Given the description of an element on the screen output the (x, y) to click on. 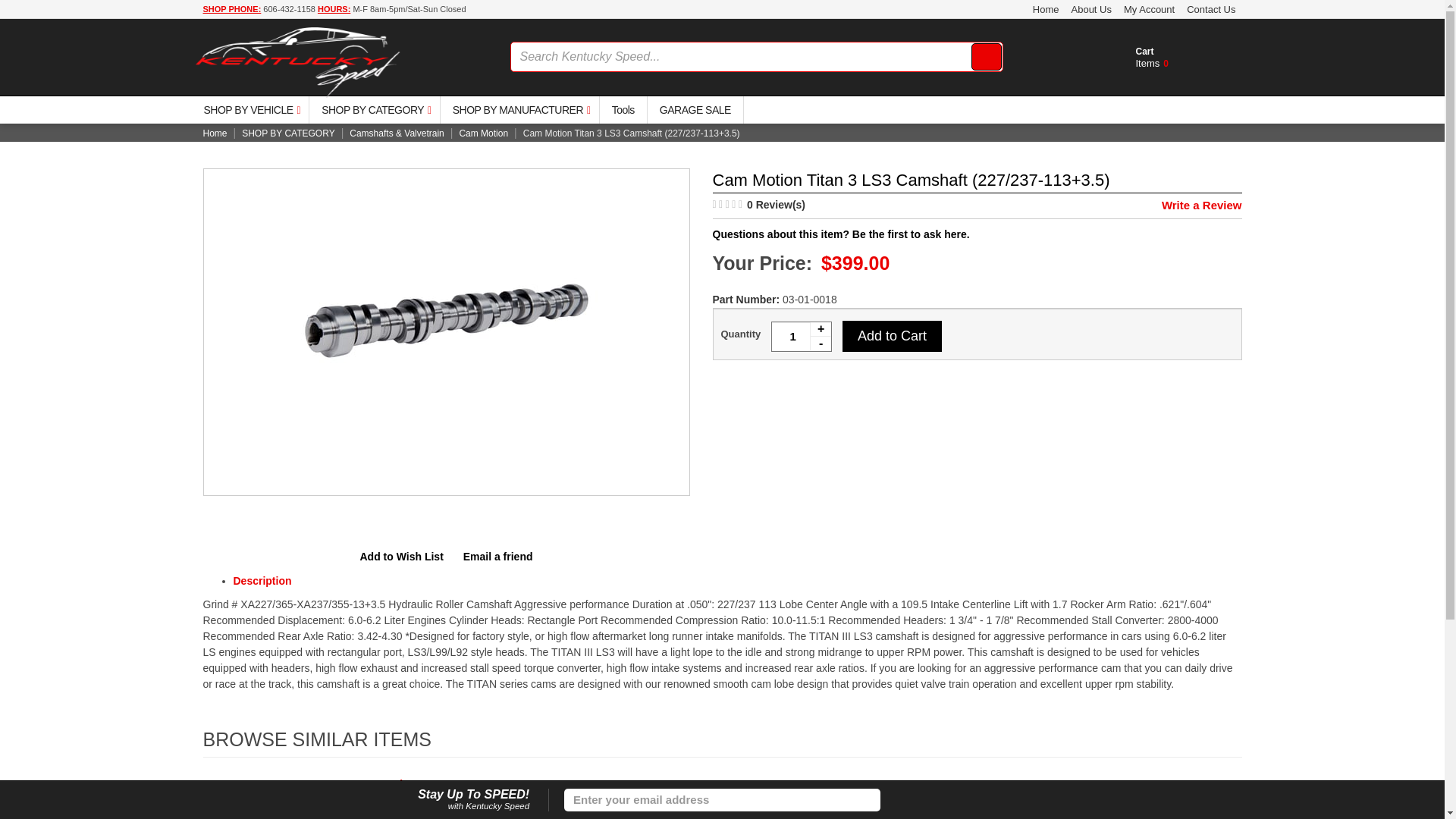
SHOP BY VEHICLE (249, 109)
Follow Us on Instagram (908, 799)
Like Us on Facebook (896, 799)
My Account (1149, 9)
Subscribe to our Channel (902, 799)
SHOP BY MANUFACTURER (519, 109)
About Us (1090, 9)
SHOP BY CATEGORY (373, 109)
Home (1045, 9)
1 (1149, 66)
Contact Us (801, 336)
